Given the description of an element on the screen output the (x, y) to click on. 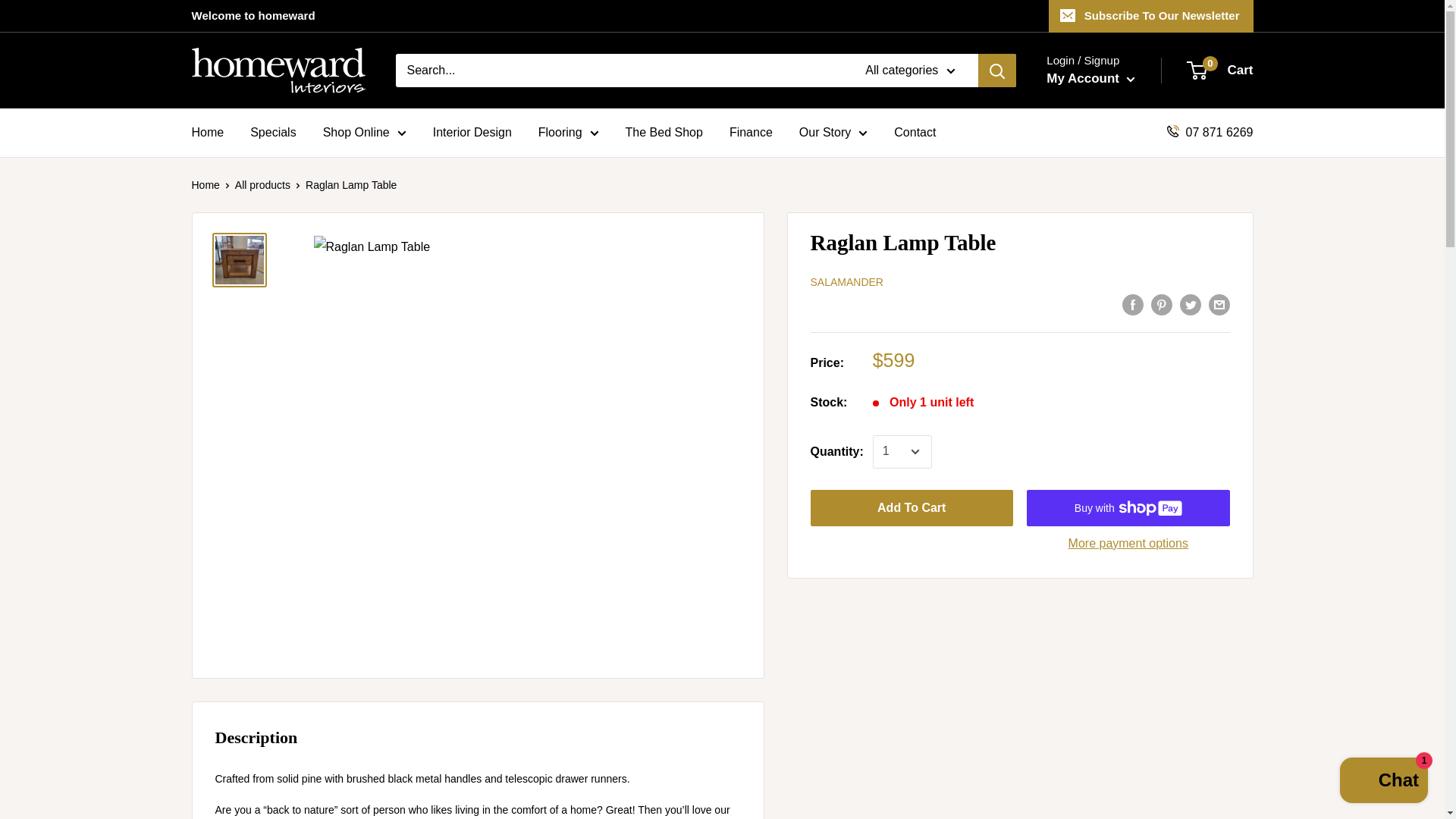
Subscribe To Our Newsletter (1150, 15)
Shopify online store chat (1383, 781)
